Given the description of an element on the screen output the (x, y) to click on. 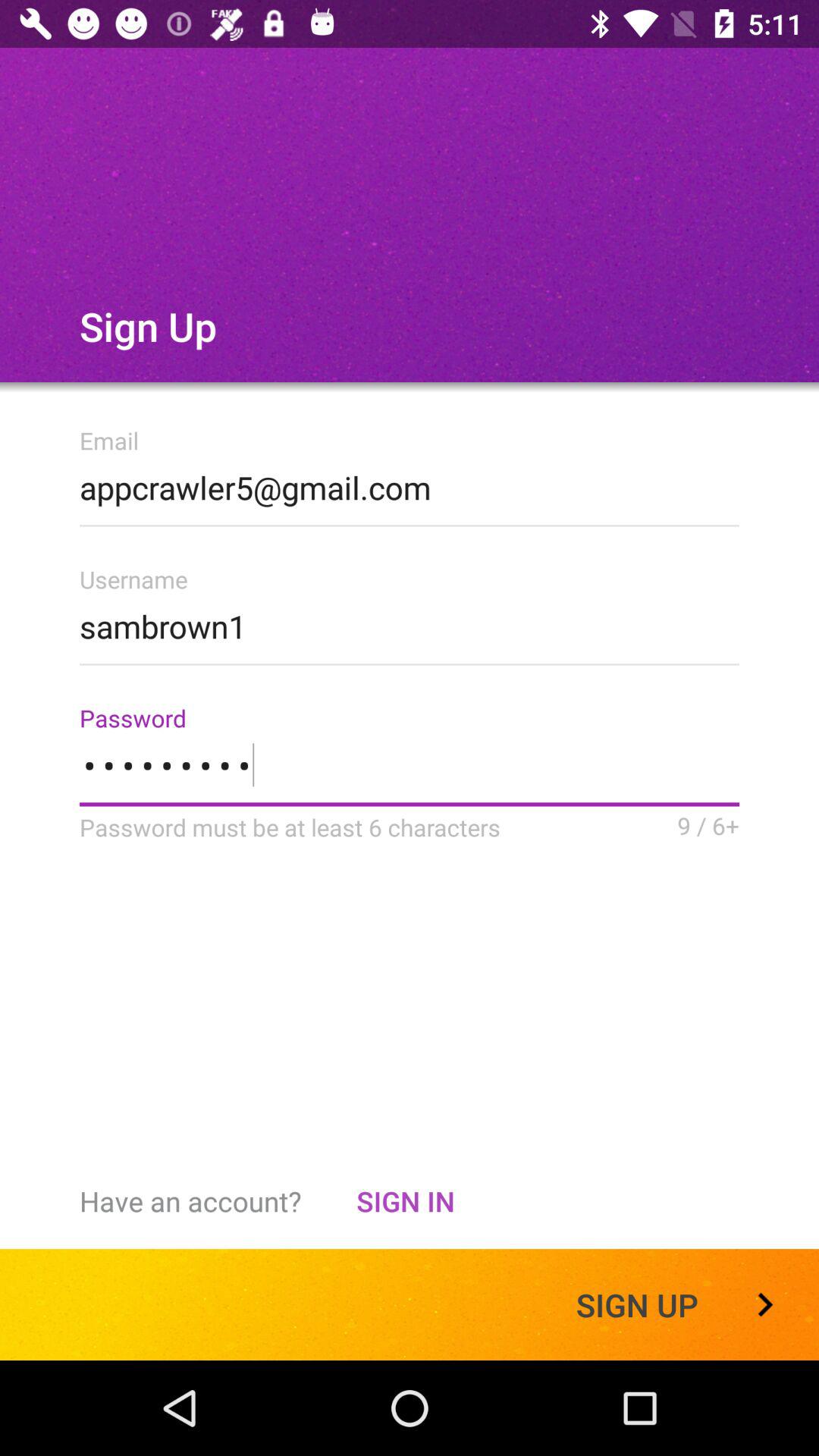
click the icon below the sambrown1 icon (409, 774)
